Given the description of an element on the screen output the (x, y) to click on. 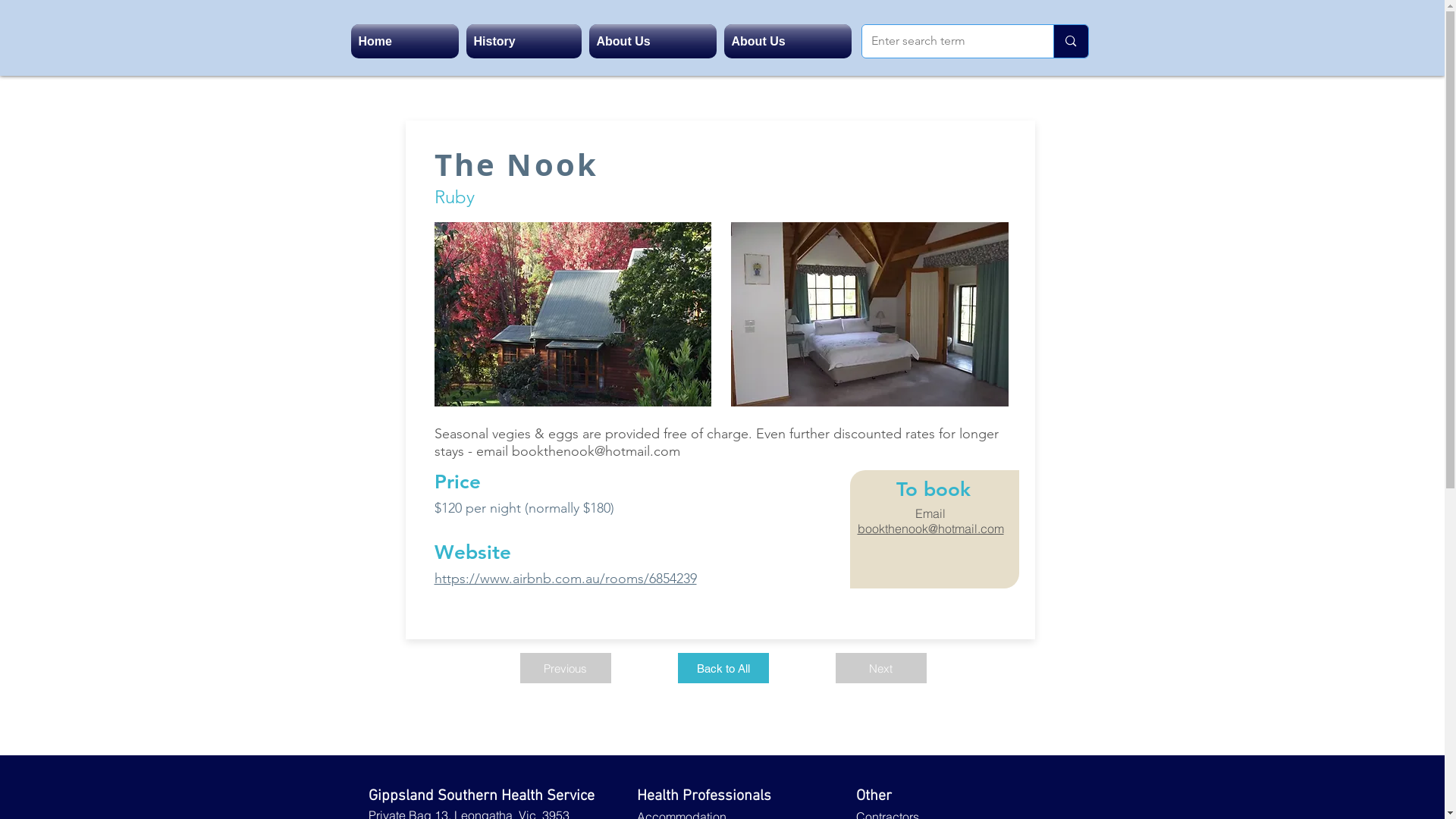
Health Professionals Element type: text (704, 796)
bookthenook@hotmail.com Element type: text (595, 450)
https://www.airbnb.com.au/rooms/6854239 Element type: text (564, 578)
Back to All Element type: text (722, 667)
History Element type: text (523, 41)
bookthenook@hotmail.com Element type: text (929, 528)
Previous Element type: text (565, 667)
About Us Element type: text (785, 41)
The Nook.jpg Element type: hover (571, 314)
About Us Element type: text (652, 41)
The Nook.jpg Element type: hover (869, 314)
Home Element type: text (405, 41)
Next Element type: text (880, 667)
Gippsland Southern Health Service Element type: text (481, 796)
